Given the description of an element on the screen output the (x, y) to click on. 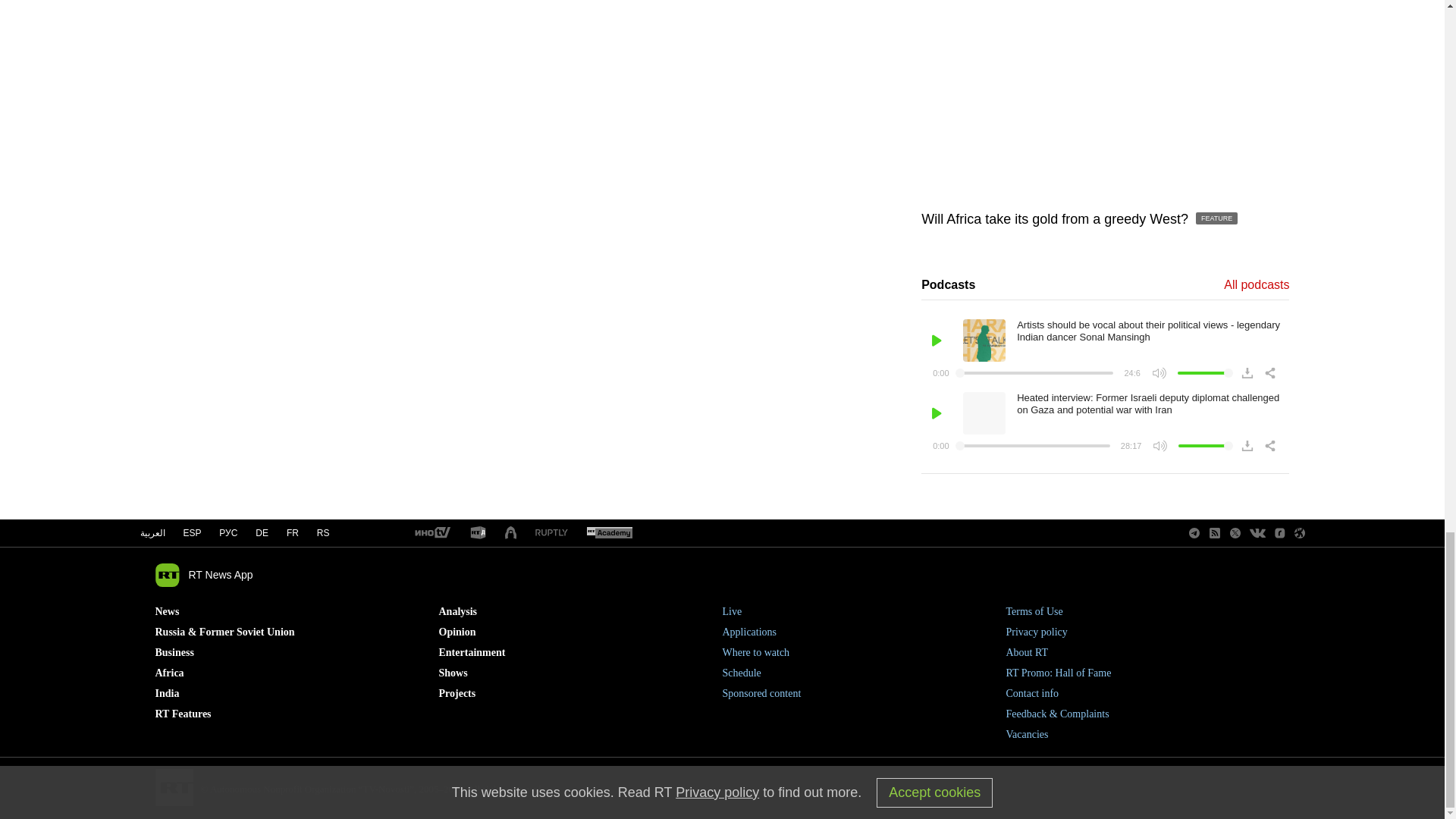
RT  (608, 533)
RT  (551, 533)
RT  (431, 533)
RT  (478, 533)
